Given the description of an element on the screen output the (x, y) to click on. 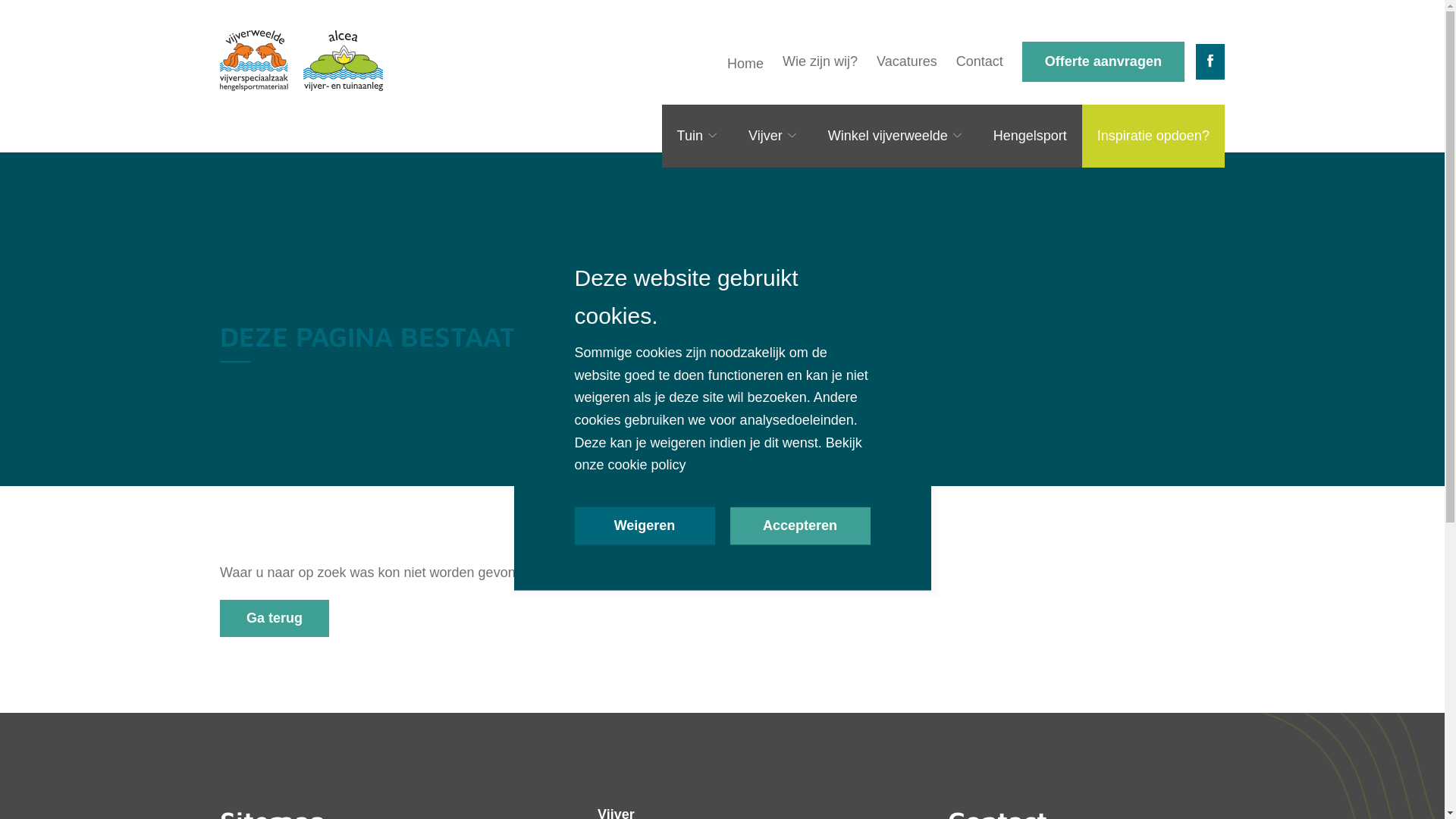
Tuin Element type: text (697, 135)
Home Element type: text (112, 84)
Accepteren Element type: text (799, 526)
Realisaties Element type: text (133, 552)
Tuin Element type: text (105, 167)
Weigeren Element type: text (644, 526)
Tuinontwerp en architectuur Element type: text (205, 207)
Vijverrenovatie Element type: text (157, 512)
Contact Element type: text (979, 61)
Contact Element type: text (144, 790)
Vijver Element type: text (110, 359)
Home Element type: text (745, 63)
Tuinaanleg Element type: text (143, 245)
Wie zijn wij? Element type: text (139, 126)
Wie zijn wij? Element type: text (819, 61)
Boomhutten Element type: text (147, 320)
Producten Element type: text (140, 633)
Vacatures Element type: text (906, 61)
Inspiratie opdoen? Element type: text (1153, 135)
Ga terug Element type: text (274, 618)
Offerte aanvragen Element type: text (1102, 61)
Wateranalyse Element type: text (152, 671)
Vijver Element type: text (772, 135)
Vacatures Element type: text (129, 710)
Winkel vijverweelde Element type: text (170, 594)
Winkel vijverweelde Element type: text (895, 135)
Hengelsport Element type: text (1029, 135)
Facebook Element type: text (1209, 61)
Vijveraanleg Element type: text (148, 437)
Vijverontwerp Element type: text (152, 399)
Bekijk onze cookie policy Element type: text (718, 453)
Tuinonderhoud Element type: text (157, 282)
